Given the description of an element on the screen output the (x, y) to click on. 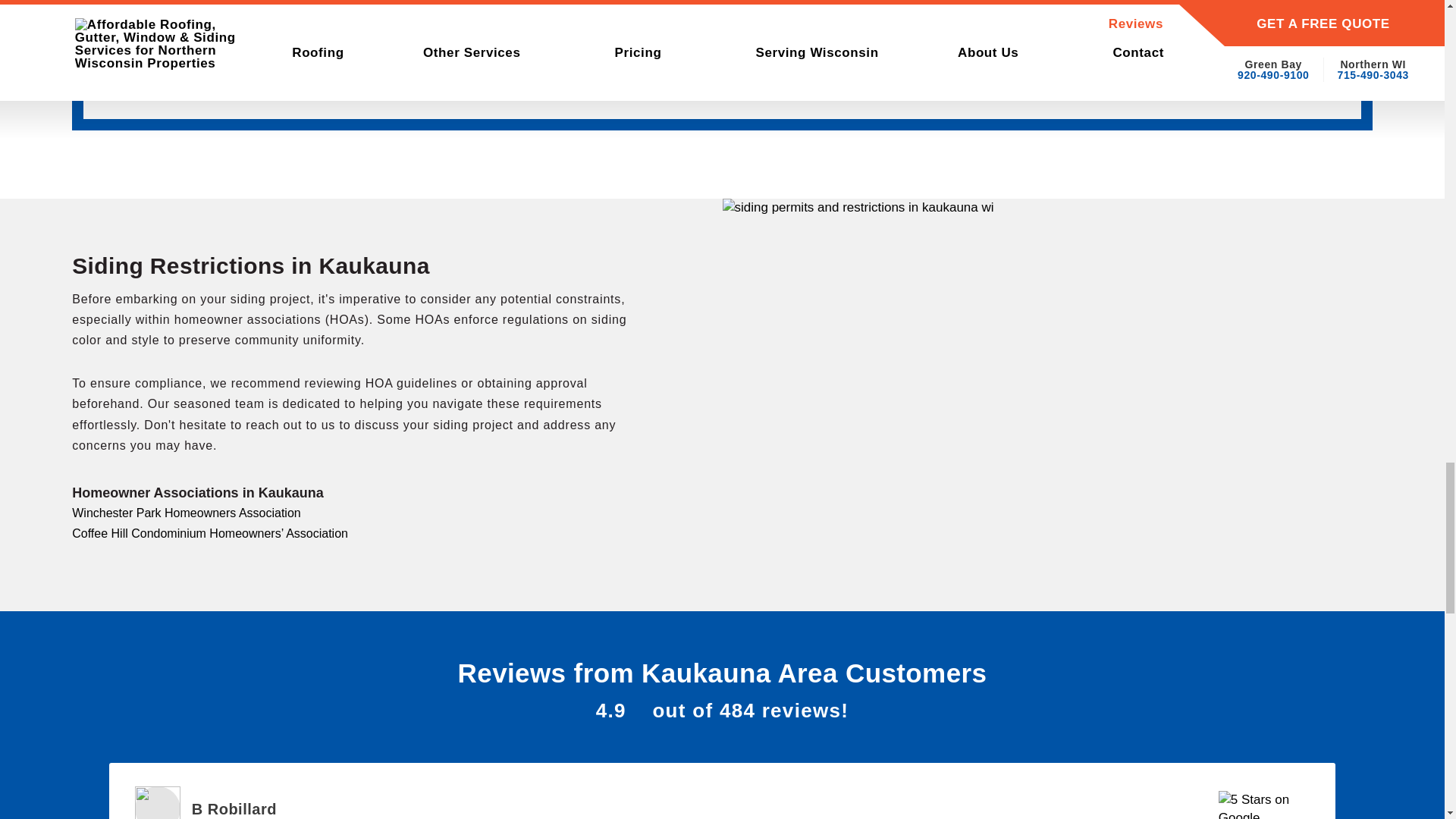
See more satisfied customer reviews (157, 802)
